Given the description of an element on the screen output the (x, y) to click on. 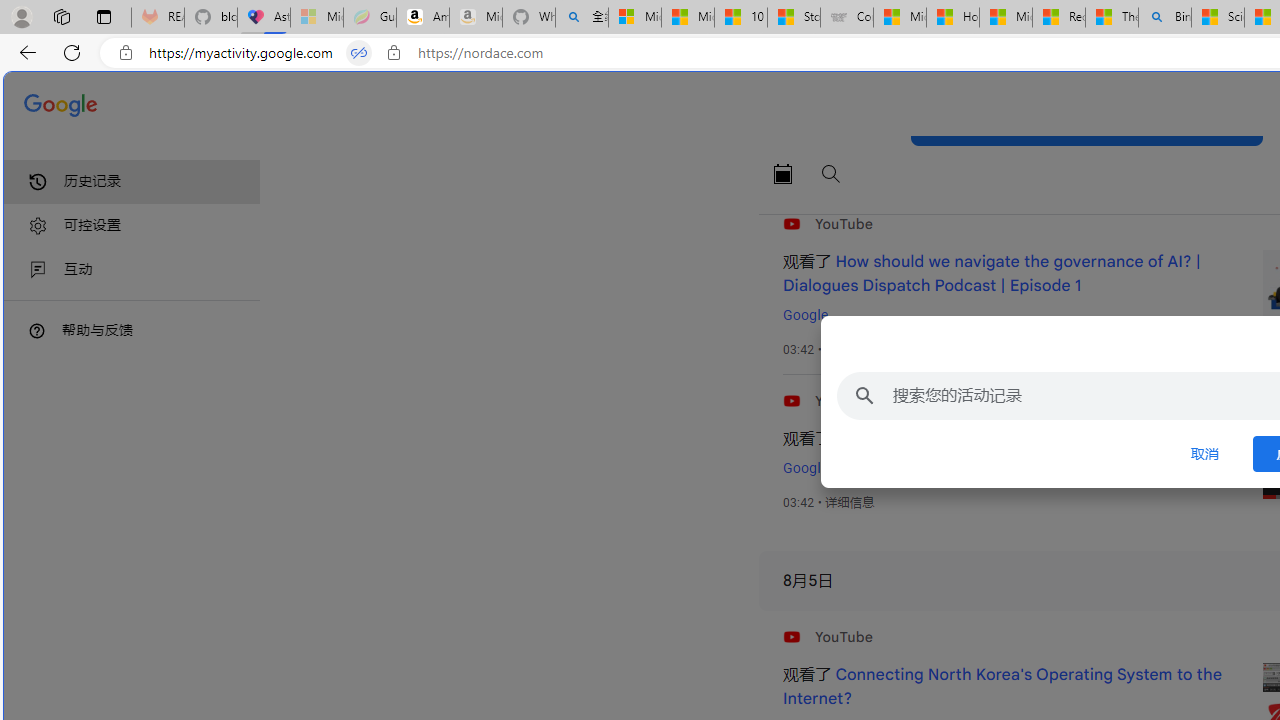
Tabs in split screen (358, 53)
Bing (1165, 17)
Class: DTiKkd NMm5M (37, 330)
